Given the description of an element on the screen output the (x, y) to click on. 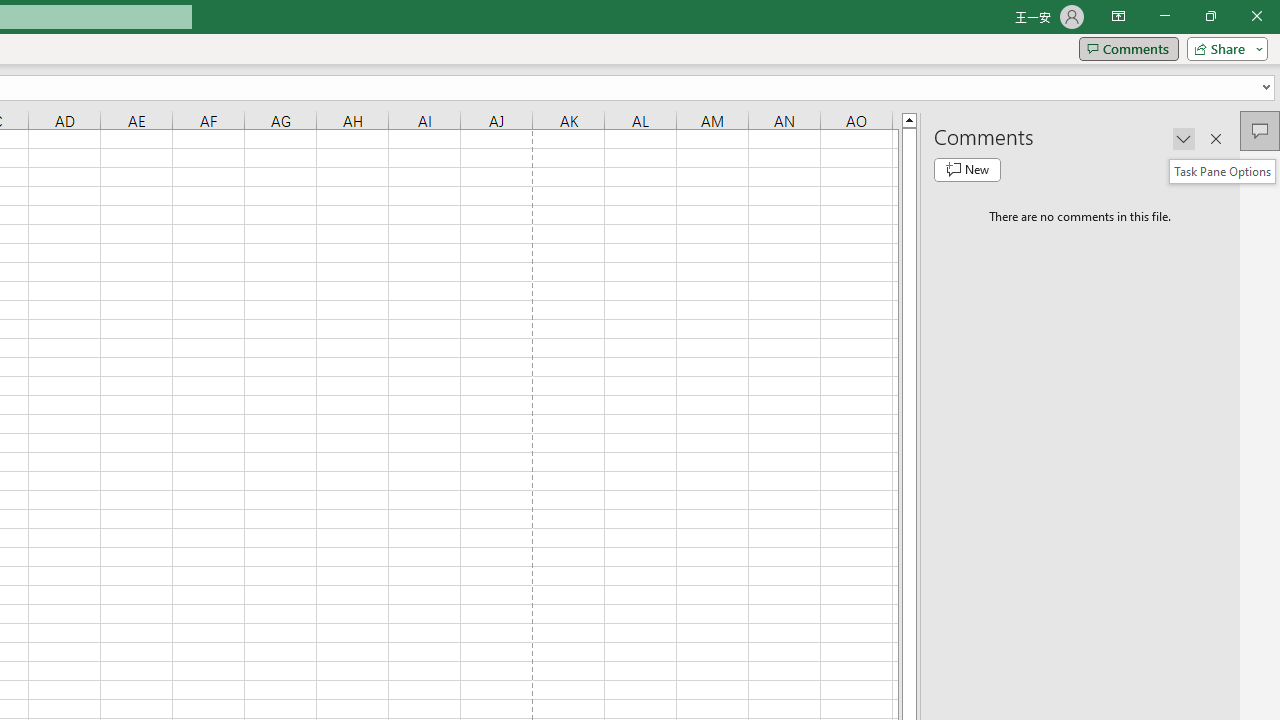
Task Pane Options (1222, 171)
Search (1260, 170)
New comment (967, 169)
Task Pane Options (1183, 138)
Close pane (1215, 138)
Restore Down (1210, 16)
